Given the description of an element on the screen output the (x, y) to click on. 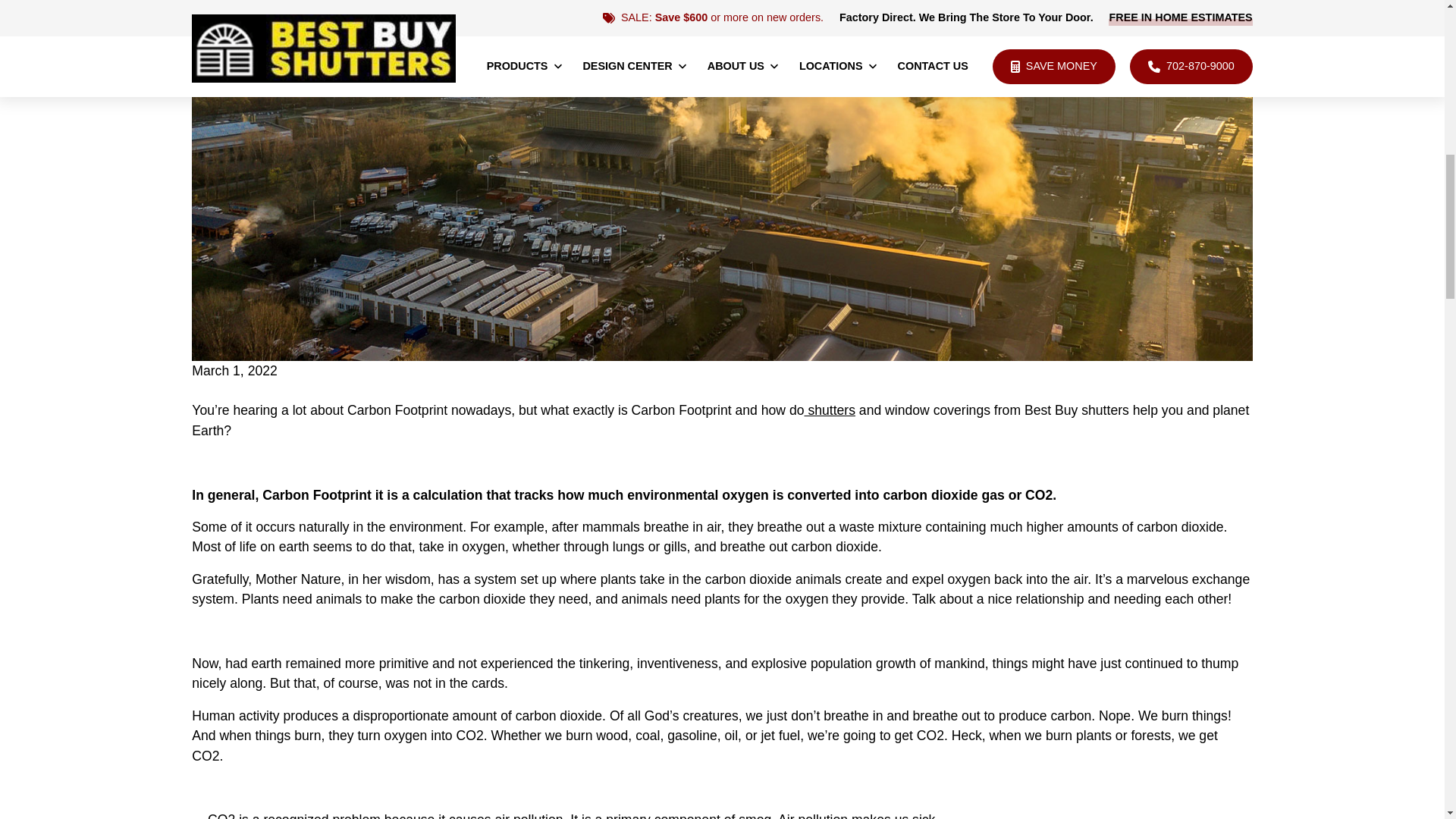
 shutters (828, 410)
